Given the description of an element on the screen output the (x, y) to click on. 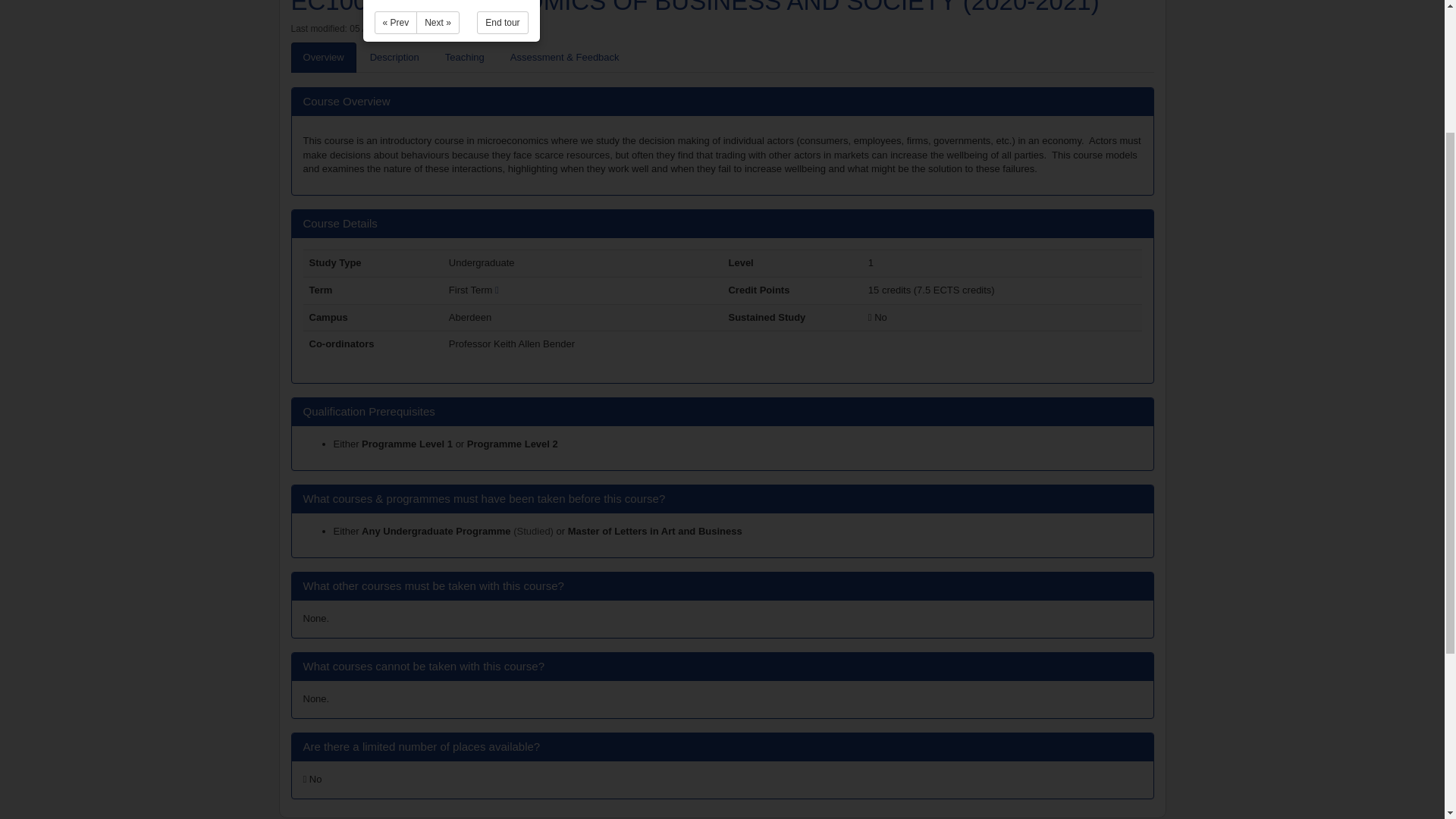
Overview (323, 57)
End tour (502, 22)
UG (437, 531)
Teaching (464, 57)
Description (394, 57)
